Given the description of an element on the screen output the (x, y) to click on. 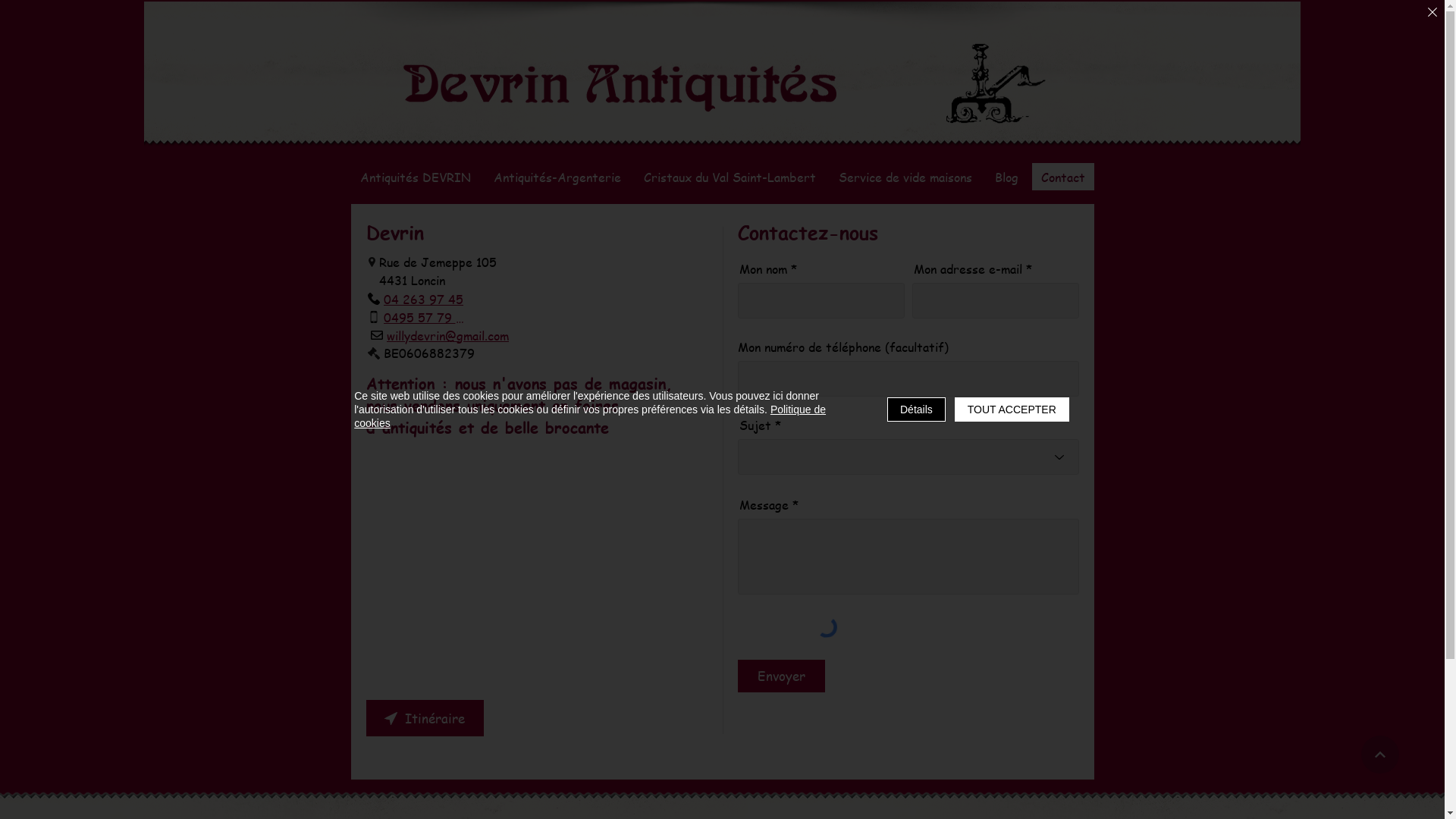
TOUT ACCEPTER Element type: text (1011, 409)
Envoyer Element type: text (780, 675)
Google Maps Element type: hover (535, 566)
Politique de cookies Element type: text (589, 416)
willydevrin@gmail.com Element type: text (439, 335)
0495 57 79 99 Element type: text (417, 316)
04 263 97 45 Element type: text (415, 298)
Blog Element type: text (1006, 176)
Service de vide maisons Element type: text (905, 176)
Cristaux du Val Saint-Lambert Element type: text (728, 176)
Contact Element type: text (1062, 176)
